Given the description of an element on the screen output the (x, y) to click on. 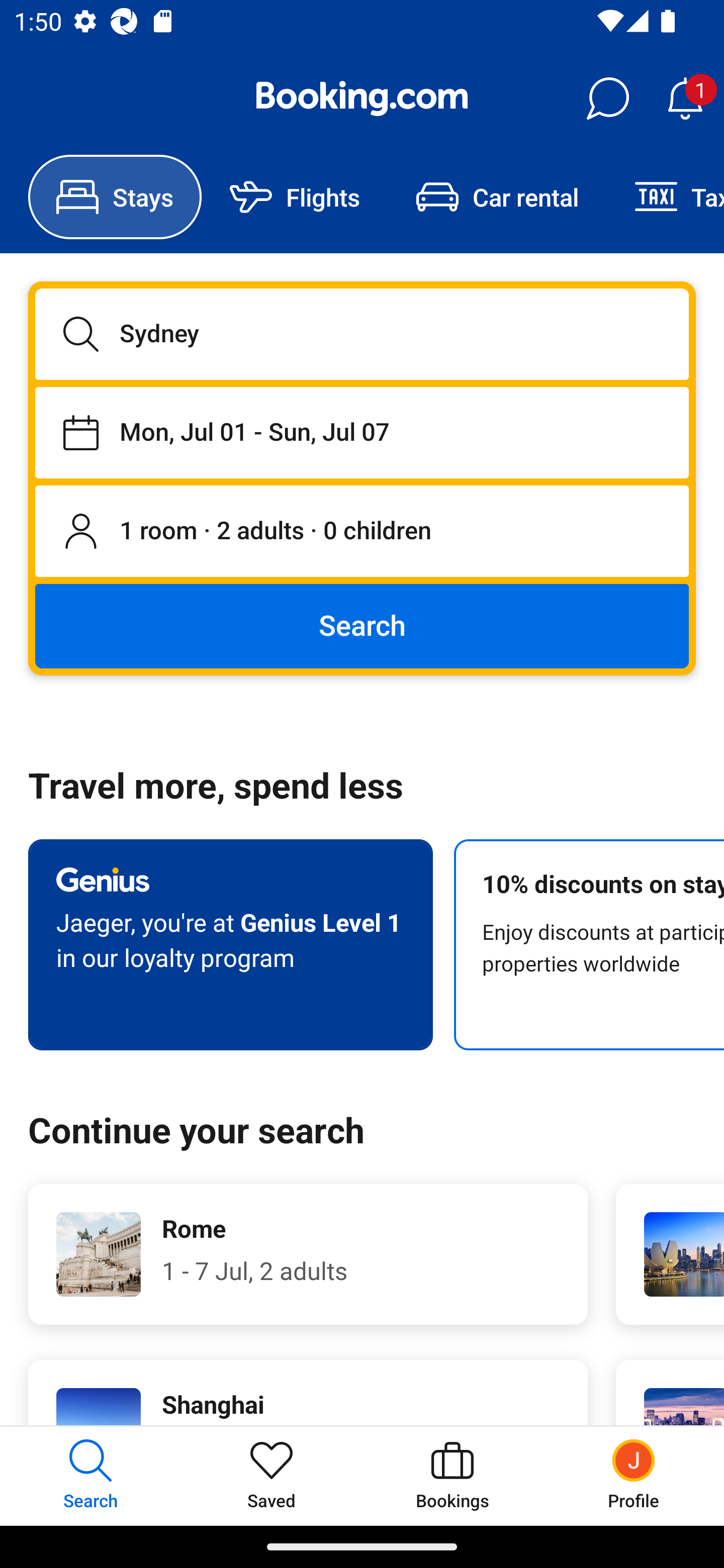
Messages (607, 98)
Notifications (685, 98)
Stays (114, 197)
Flights (294, 197)
Car rental (497, 197)
Taxi (665, 197)
Sydney (361, 333)
Staying from Mon, Jul 01 until Sun, Jul 07 (361, 432)
1 room, 2 adults, 0 children (361, 531)
Search (361, 625)
Rome 1 - 7 Jul, 2 adults (307, 1253)
Saved (271, 1475)
Bookings (452, 1475)
Profile (633, 1475)
